Given the description of an element on the screen output the (x, y) to click on. 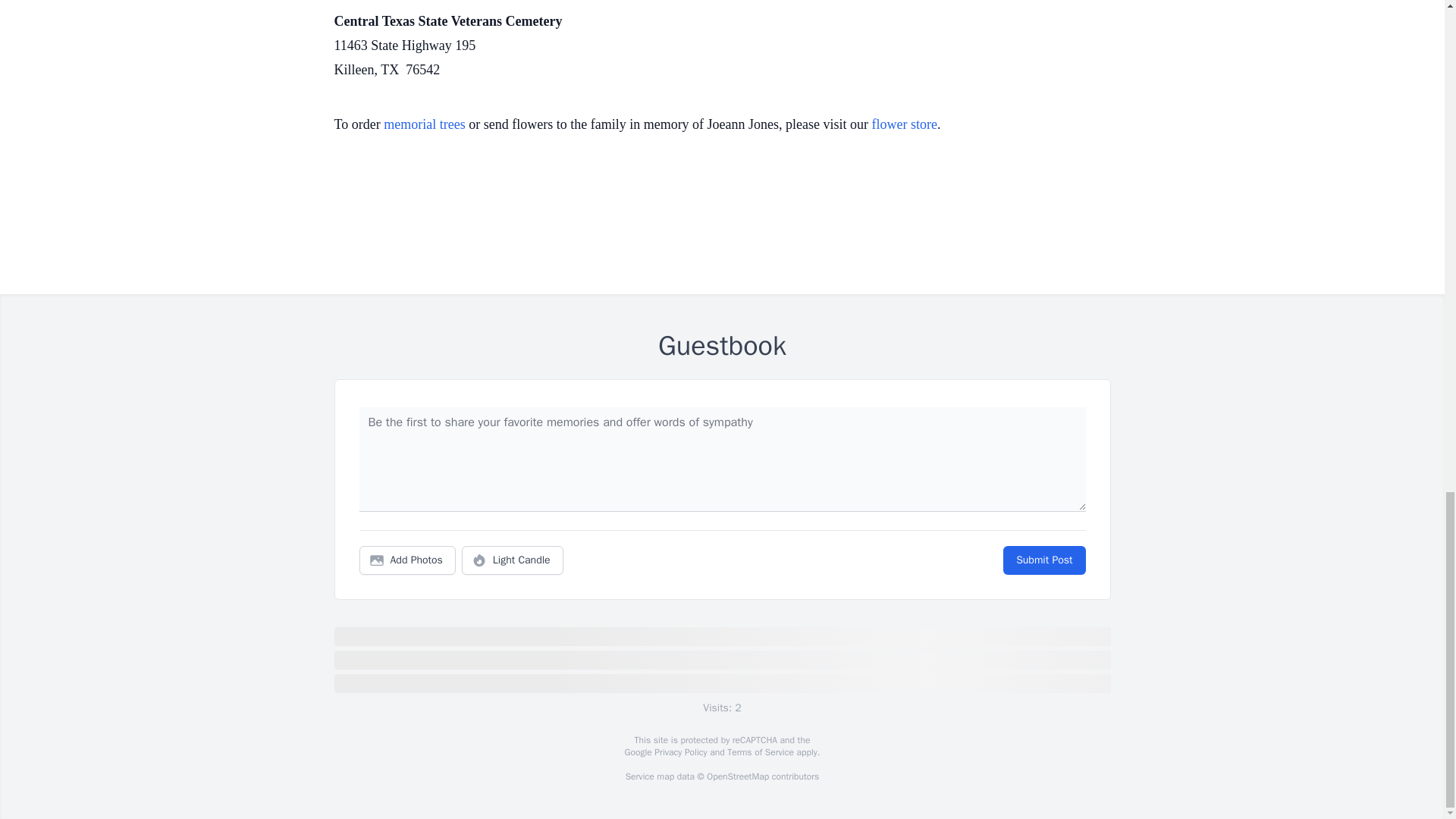
OpenStreetMap (737, 776)
Light Candle (512, 560)
memorial trees (424, 124)
Terms of Service (759, 752)
Add Photos (407, 560)
flower store (904, 124)
Submit Post (1043, 560)
Privacy Policy (679, 752)
